Given the description of an element on the screen output the (x, y) to click on. 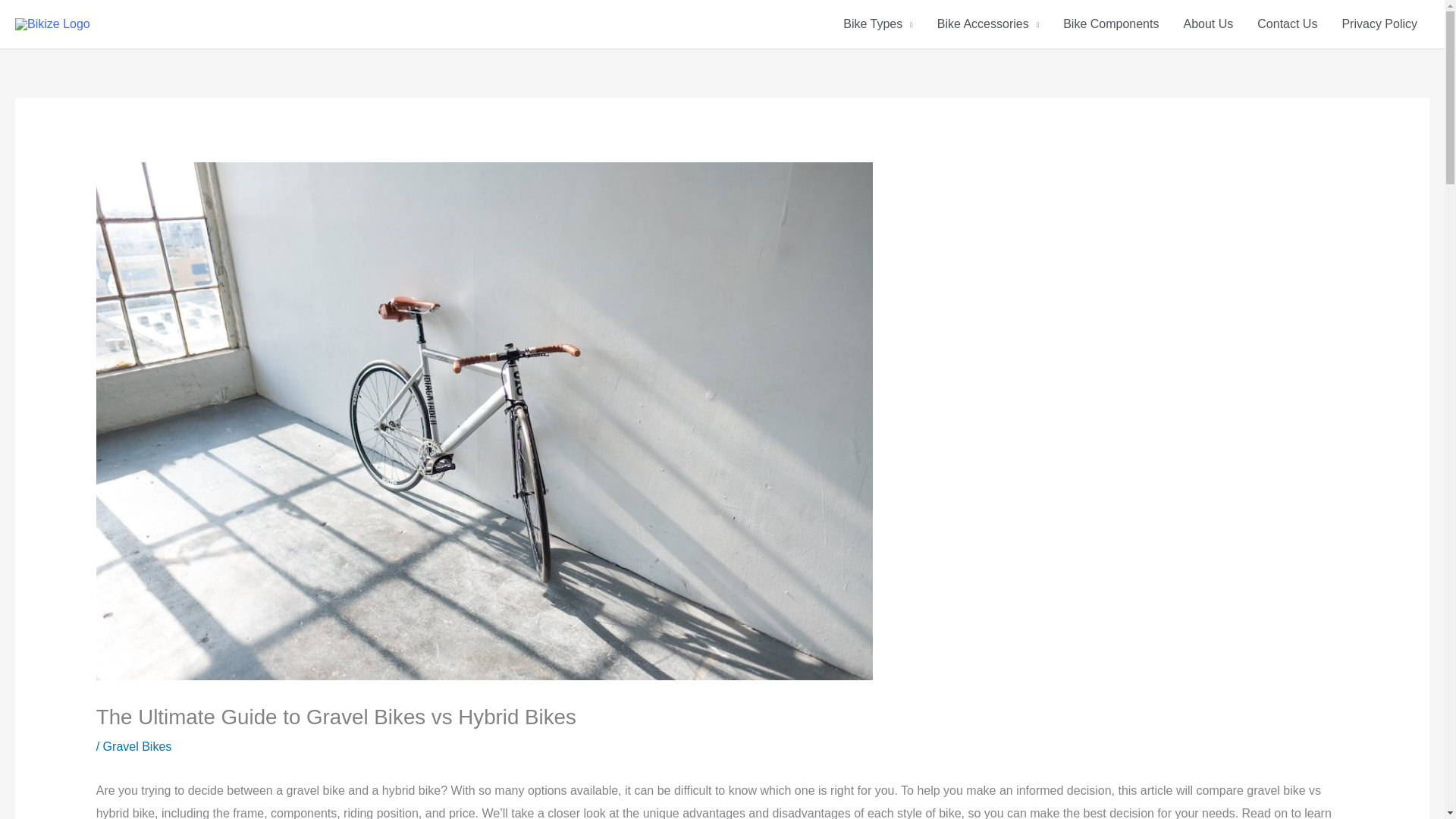
Privacy Policy (1379, 24)
About Us (1207, 24)
Contact Us (1286, 24)
Bike Accessories (987, 24)
Bike Components (1110, 24)
Gravel Bikes (137, 746)
Bike Types (877, 24)
